Given the description of an element on the screen output the (x, y) to click on. 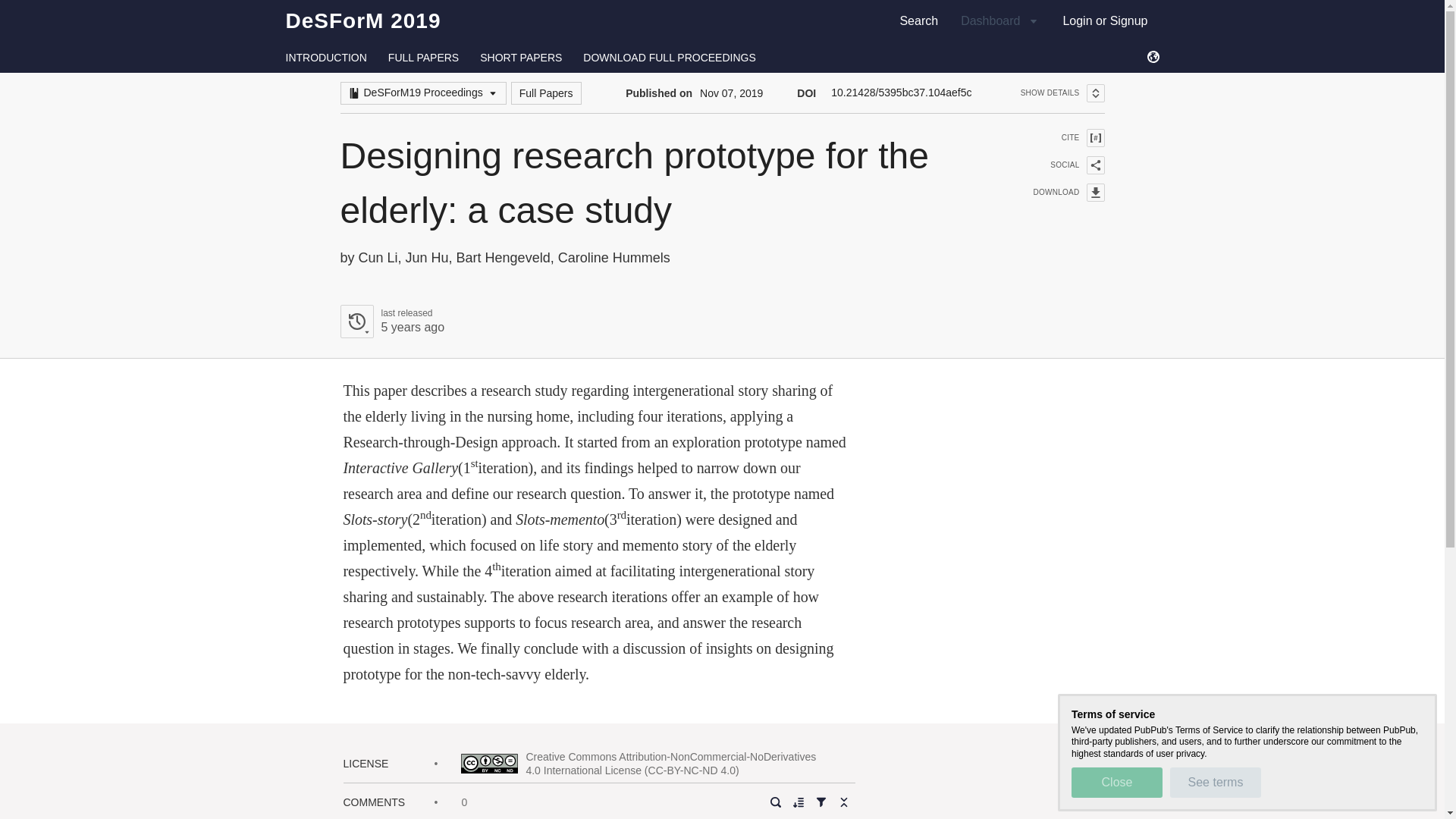
Login or Signup (1104, 20)
INTRODUCTION (325, 57)
See terms (1215, 782)
SOCIAL (1058, 165)
Full Papers (545, 92)
DeSForM 2019 (363, 20)
DOWNLOAD (1058, 192)
SHORT PAPERS (521, 57)
2019-11-06 18:17 (412, 327)
DOWNLOAD FULL PROCEEDINGS (669, 57)
FULL PAPERS (423, 57)
CITE (1058, 137)
Close (391, 321)
Search (1116, 782)
